Given the description of an element on the screen output the (x, y) to click on. 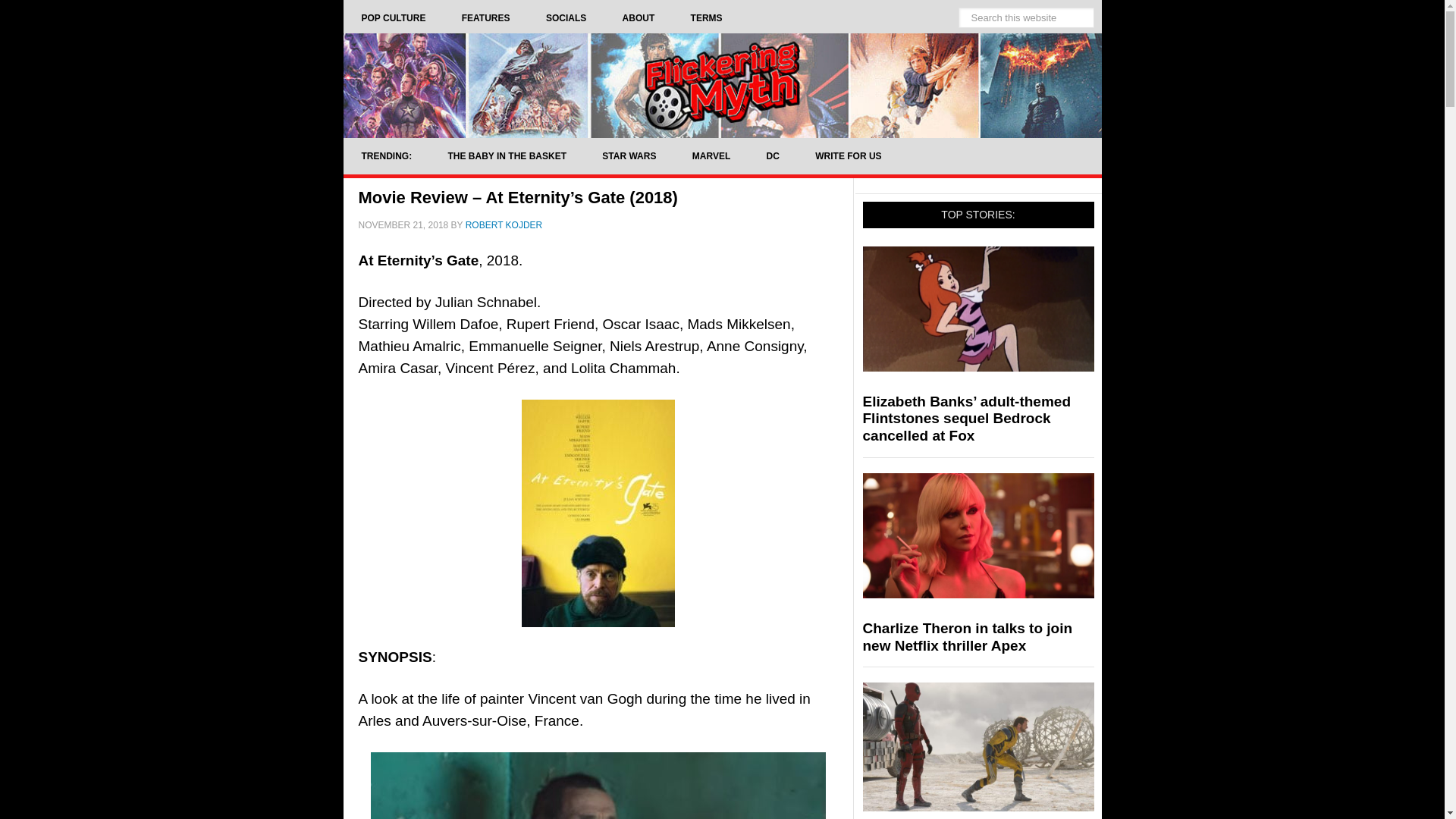
TERMS (706, 18)
SOCIALS (565, 18)
ABOUT (638, 18)
THE BABY IN THE BASKET (507, 156)
MARVEL (711, 156)
Pop Culture (393, 18)
WRITE FOR US (847, 156)
STAR WARS (628, 156)
Features (486, 18)
ROBERT KOJDER (504, 225)
FLICKERING MYTH (721, 85)
FEATURES (486, 18)
Flickering Myth Social Media (565, 18)
